Given the description of an element on the screen output the (x, y) to click on. 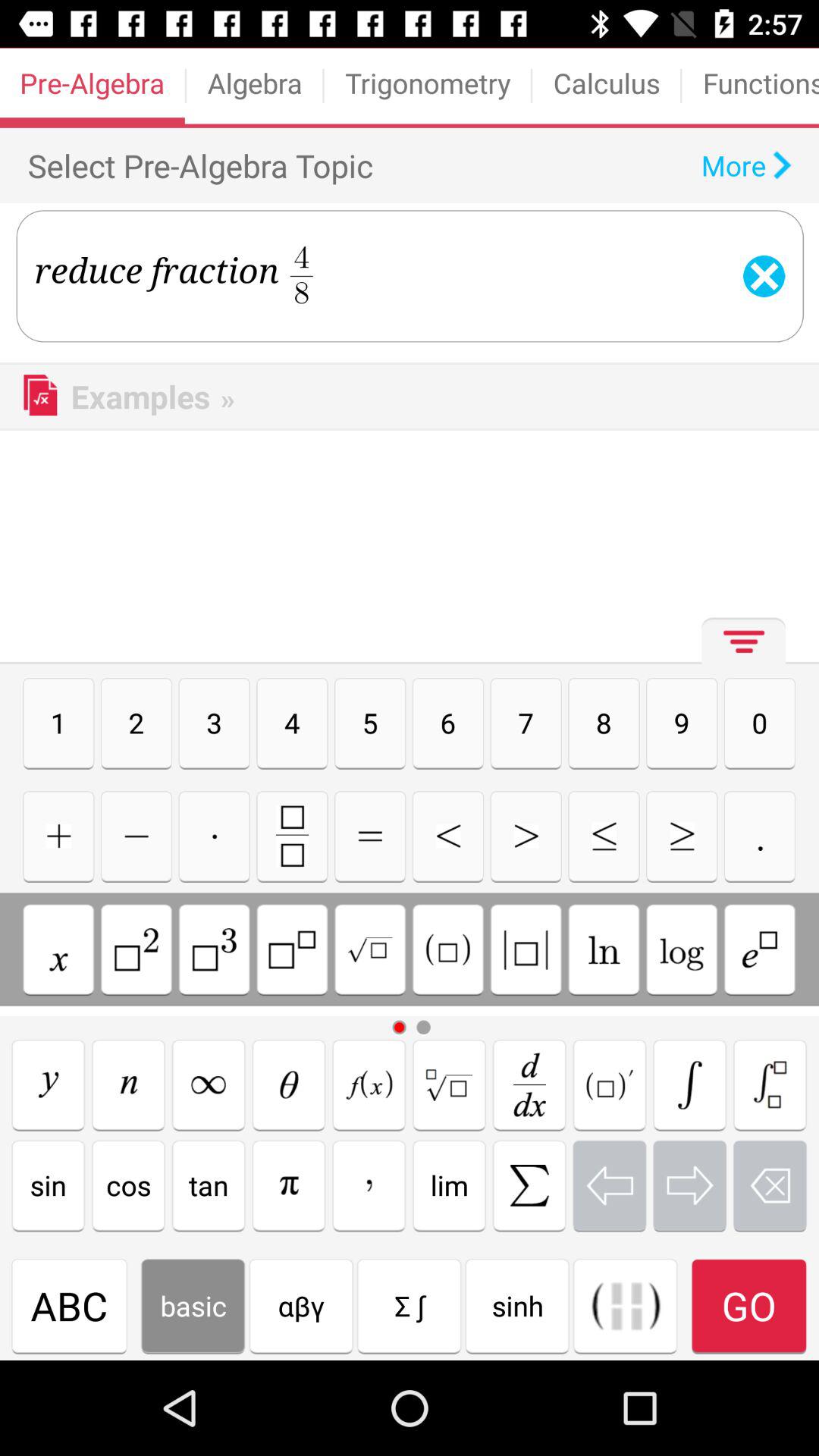
use mathematical function (625, 1305)
